Given the description of an element on the screen output the (x, y) to click on. 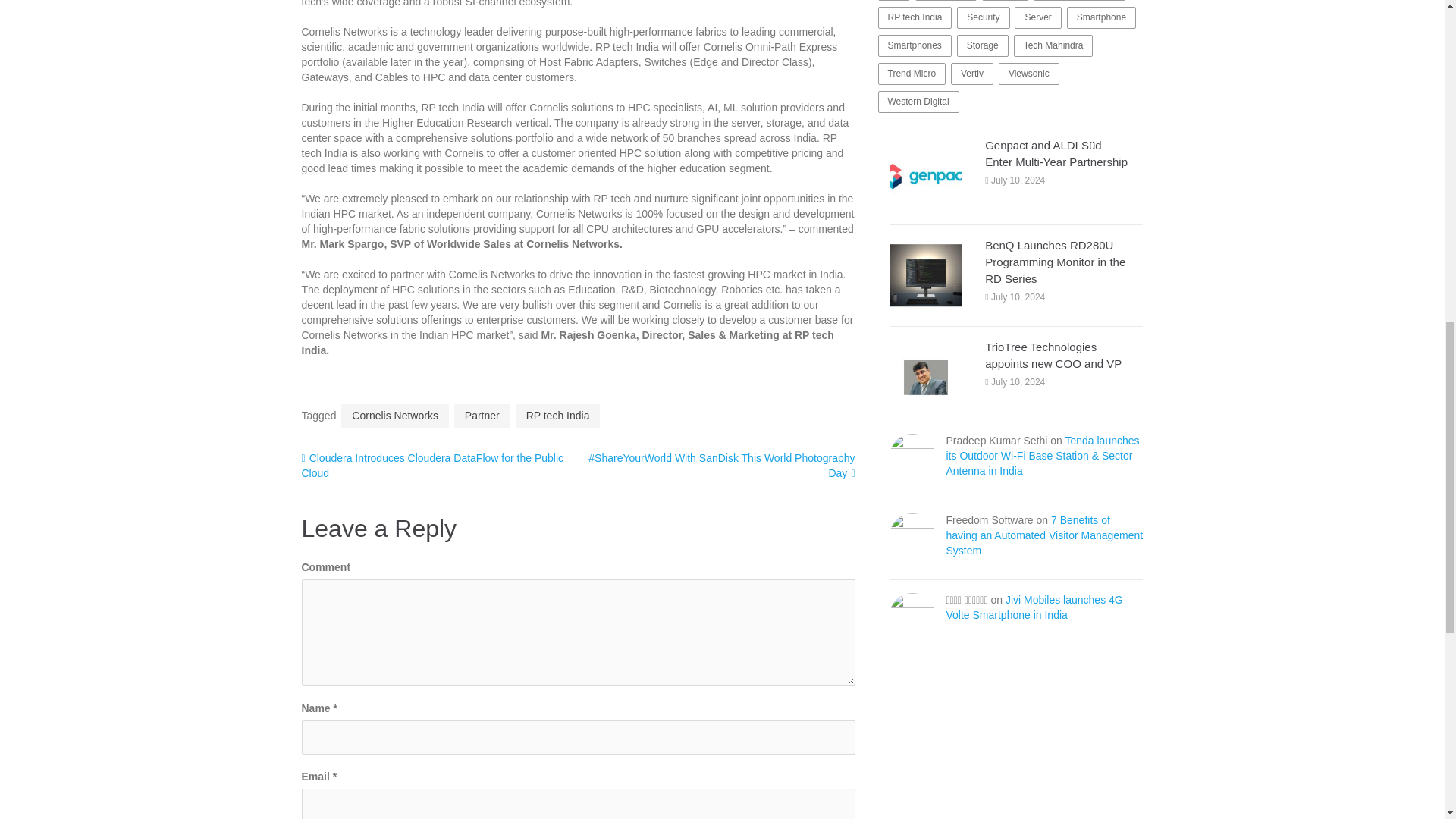
Cloudera Introduces Cloudera DataFlow for the Public Cloud (432, 465)
Cornelis Networks (394, 416)
Partner (482, 416)
RP tech India (557, 416)
